Given the description of an element on the screen output the (x, y) to click on. 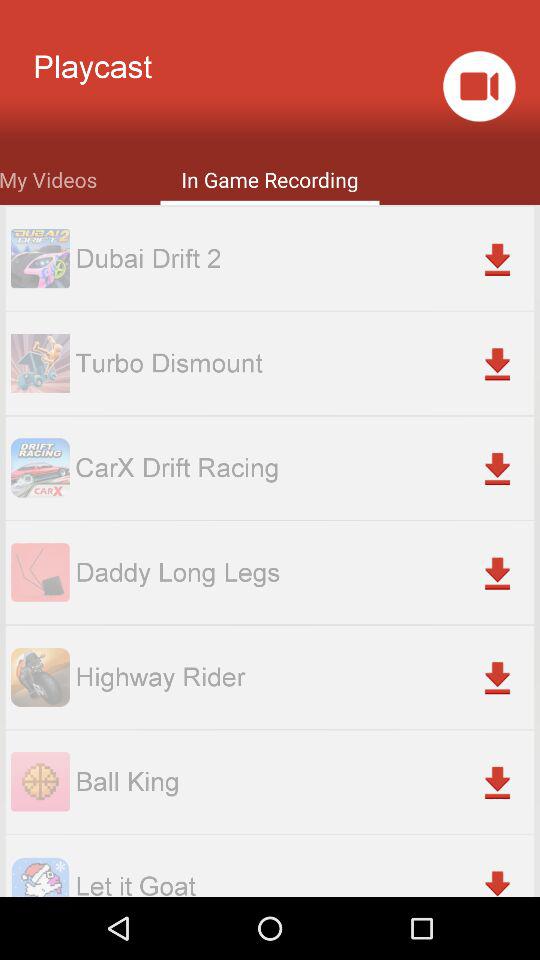
press turbo dismount item (304, 362)
